Given the description of an element on the screen output the (x, y) to click on. 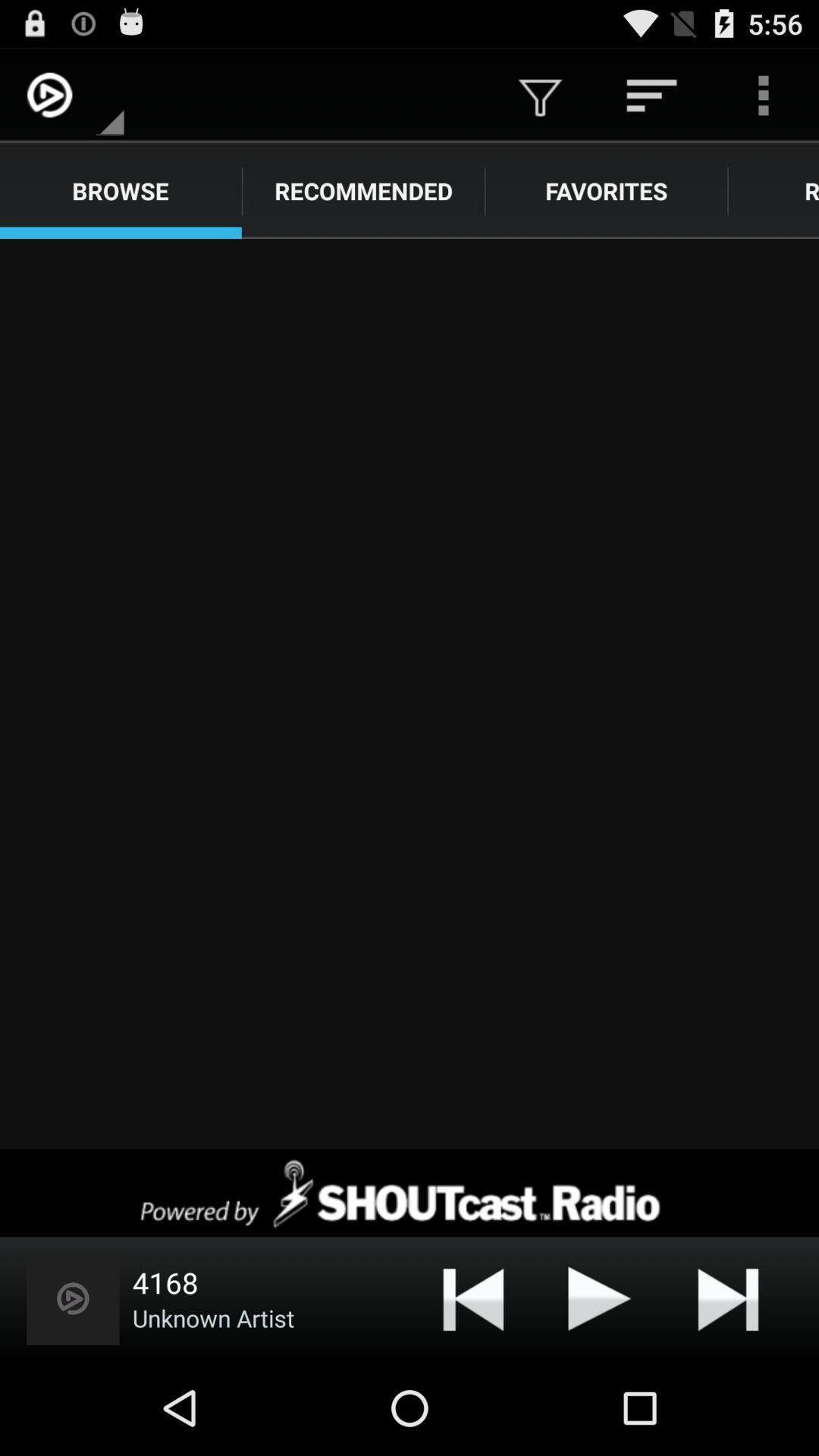
go forward (409, 693)
